Given the description of an element on the screen output the (x, y) to click on. 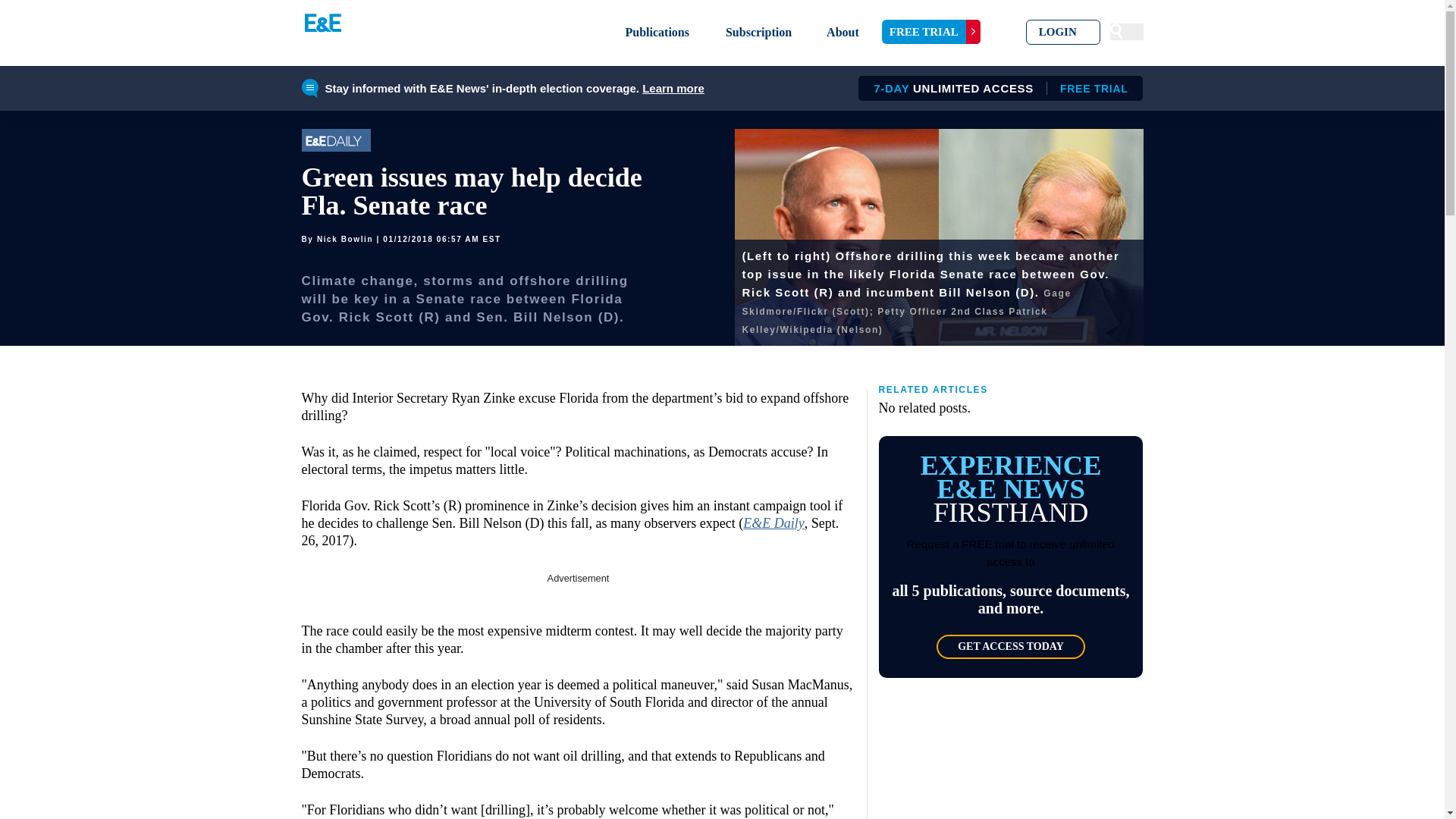
FREE TRIAL (930, 31)
About (843, 32)
Subscription (994, 88)
Publications (758, 32)
Learn more (656, 32)
GET ACCESS TODAY (673, 88)
Skip to primary navigation (1010, 646)
